Given the description of an element on the screen output the (x, y) to click on. 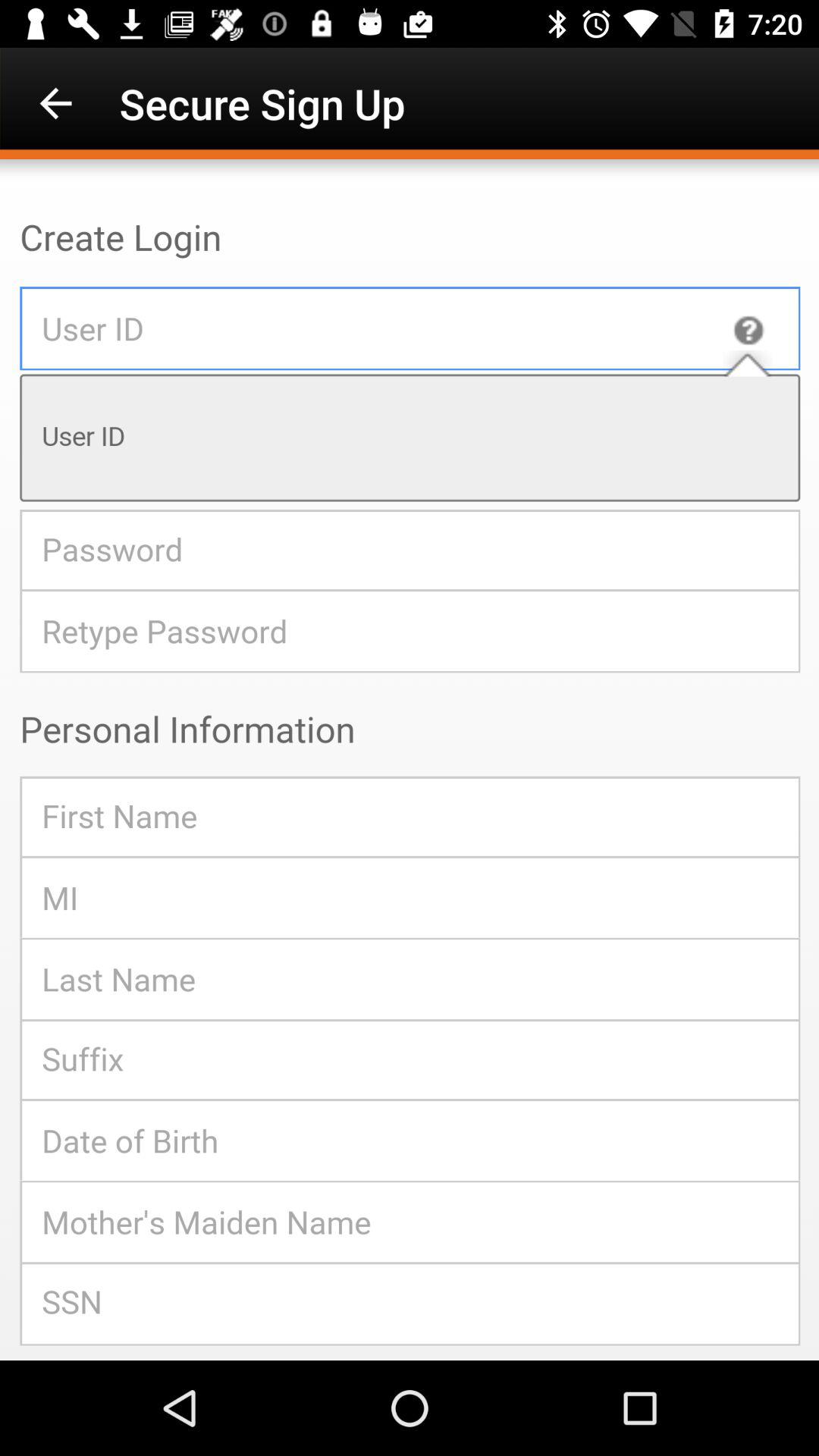
sing up form (409, 759)
